Given the description of an element on the screen output the (x, y) to click on. 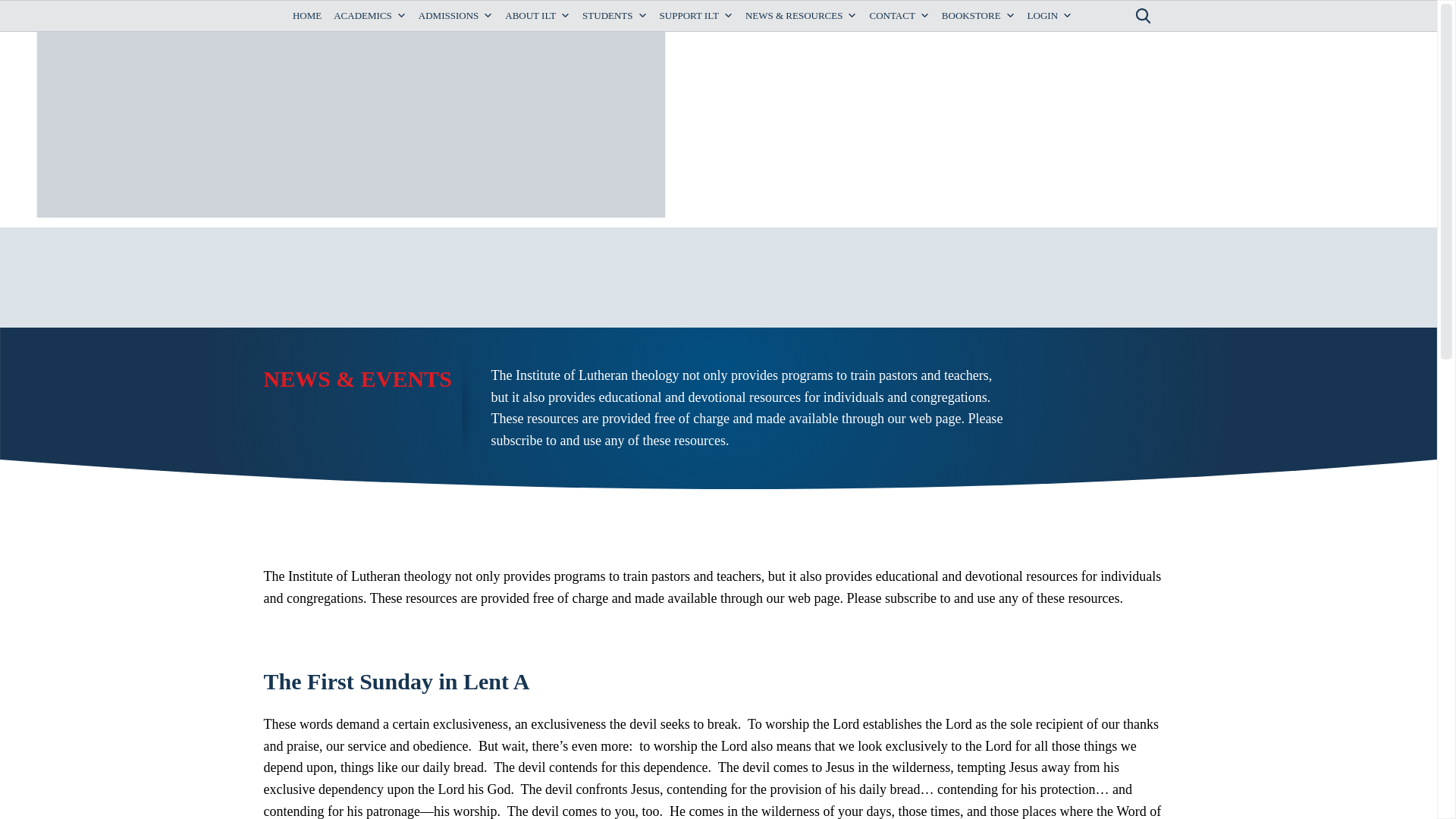
ADMISSIONS (455, 15)
HOME (306, 15)
The First Sunday in Lent A (317, 377)
ACADEMICS (369, 15)
